Given the description of an element on the screen output the (x, y) to click on. 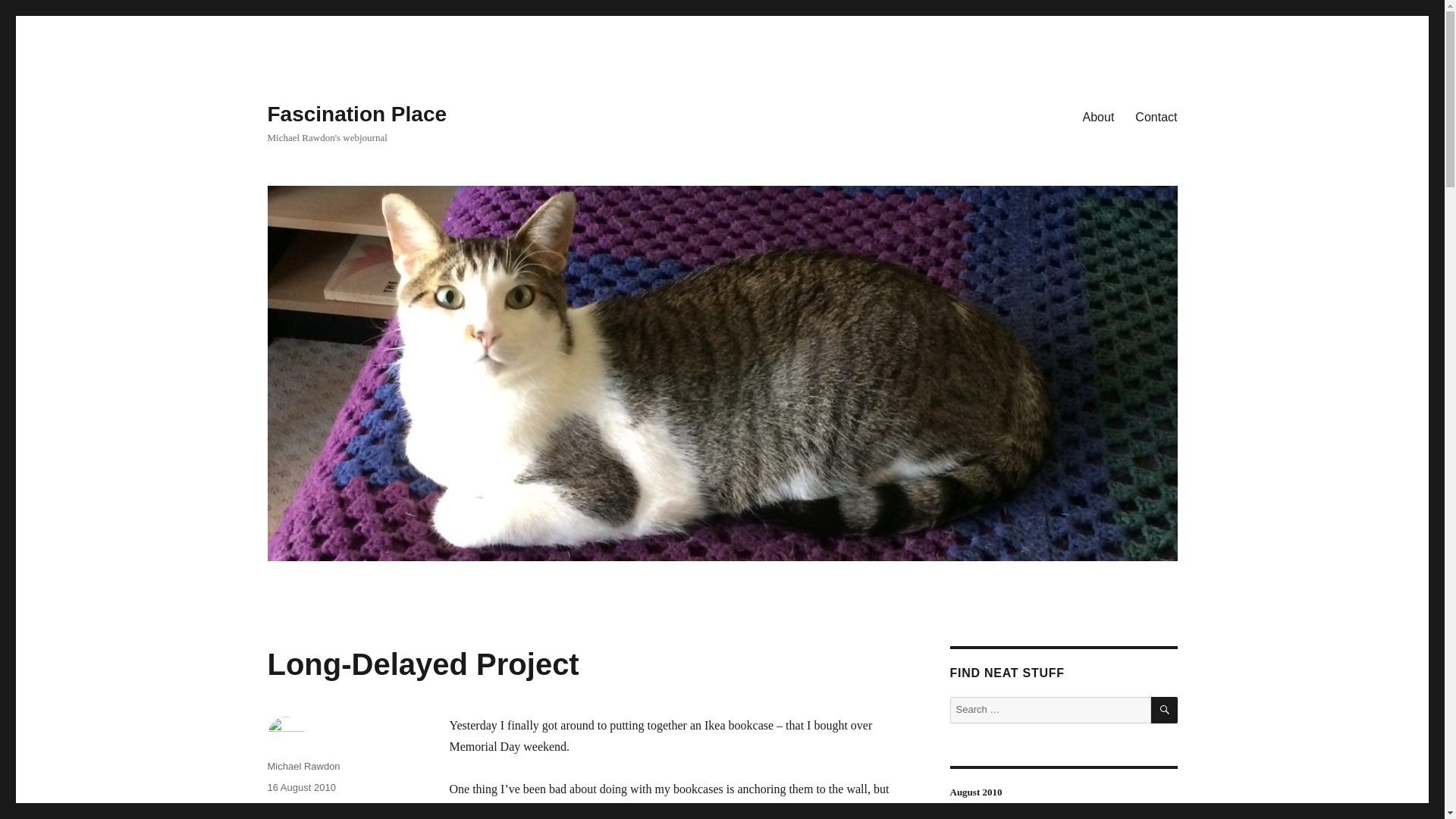
Fascination Place (356, 114)
Contact (1156, 116)
Michael Rawdon (302, 766)
About (1098, 116)
Home (280, 808)
SEARCH (1164, 709)
16 August 2010 (300, 787)
